Given the description of an element on the screen output the (x, y) to click on. 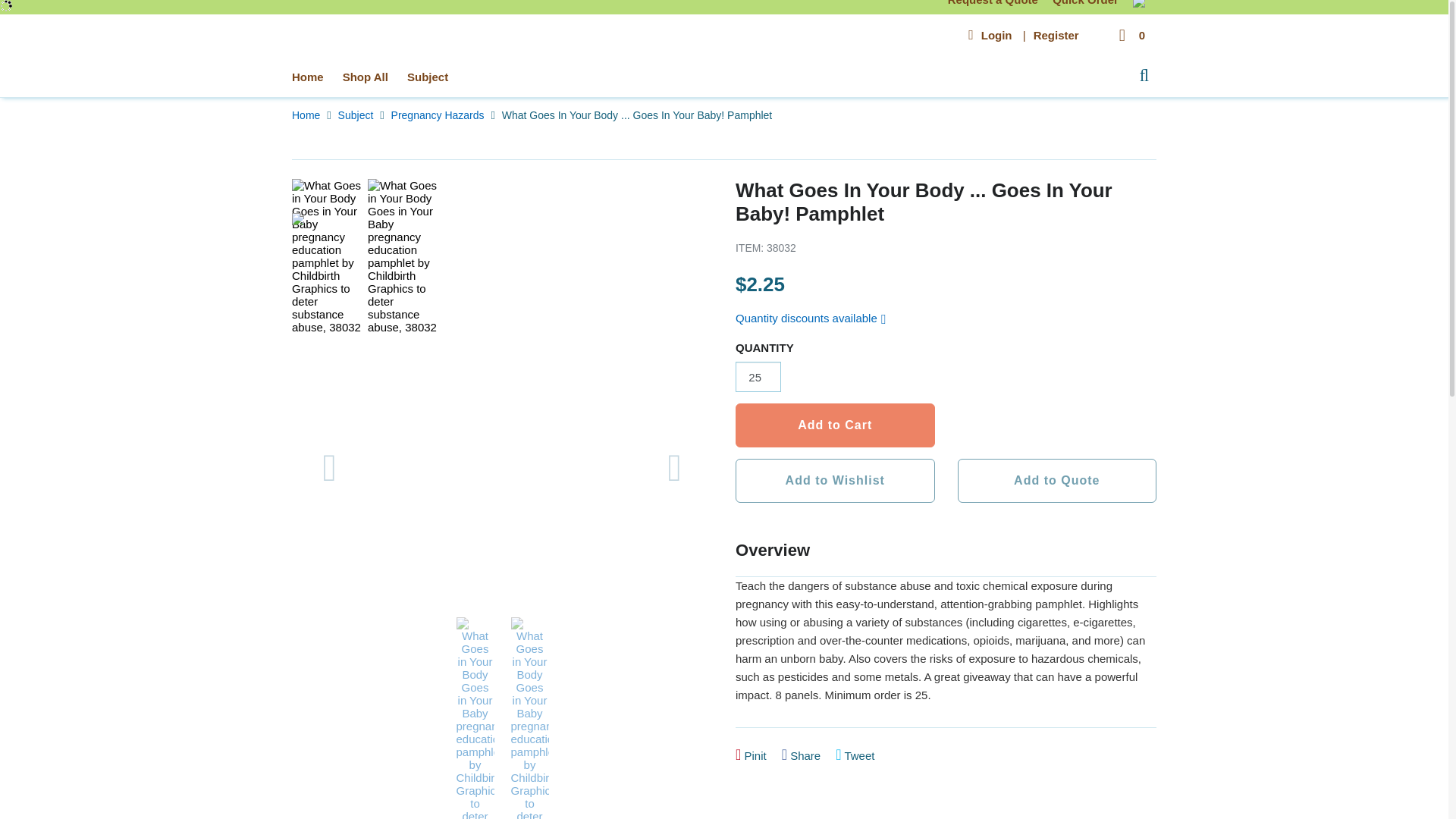
25 (757, 376)
Login (997, 34)
Request a Quote (994, 2)
Subject (426, 76)
Request a Quote (994, 2)
Home (307, 114)
Register (1056, 34)
Quick Order (1086, 2)
Home (307, 76)
Pregnancy Hazards (439, 114)
Subject (357, 114)
0 (1130, 34)
Shop All (365, 76)
Cart (1130, 34)
Quick Order (1086, 2)
